Given the description of an element on the screen output the (x, y) to click on. 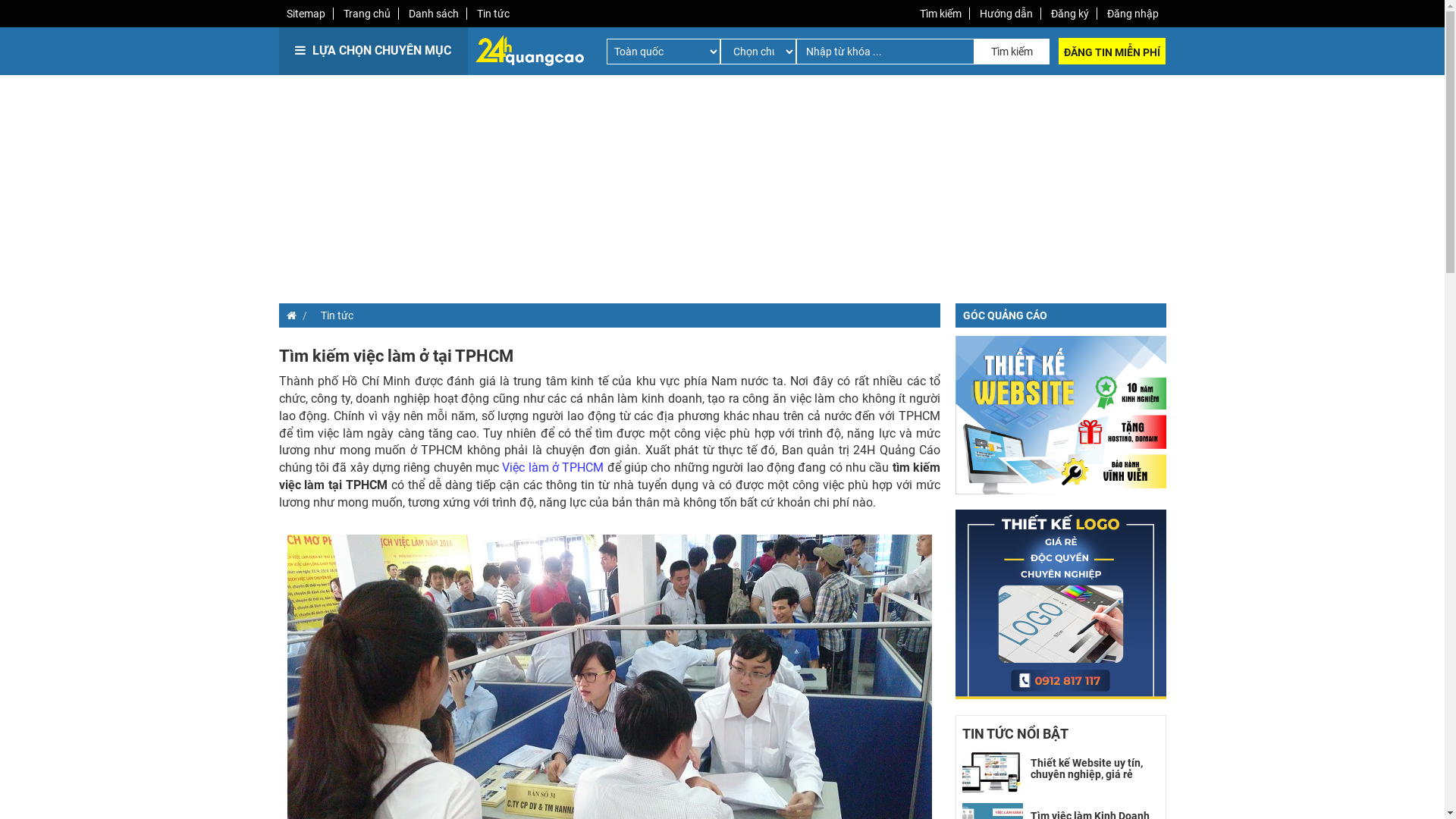
Sitemap Element type: text (306, 13)
Advertisement Element type: hover (946, 189)
Advertisement Element type: hover (498, 189)
